Given the description of an element on the screen output the (x, y) to click on. 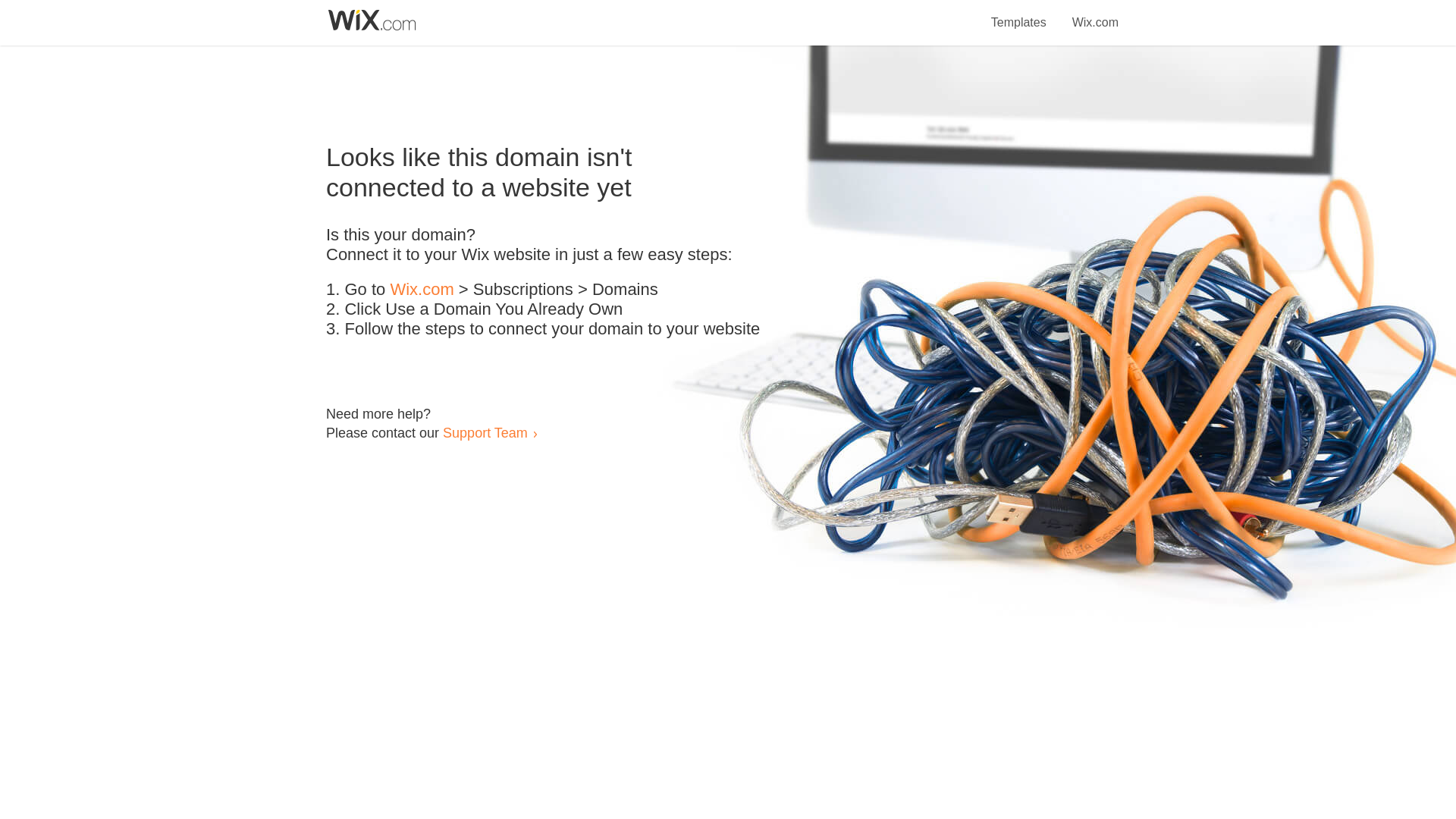
Wix.com (1095, 14)
Wix.com (421, 289)
Templates (1018, 14)
Support Team (484, 432)
